Given the description of an element on the screen output the (x, y) to click on. 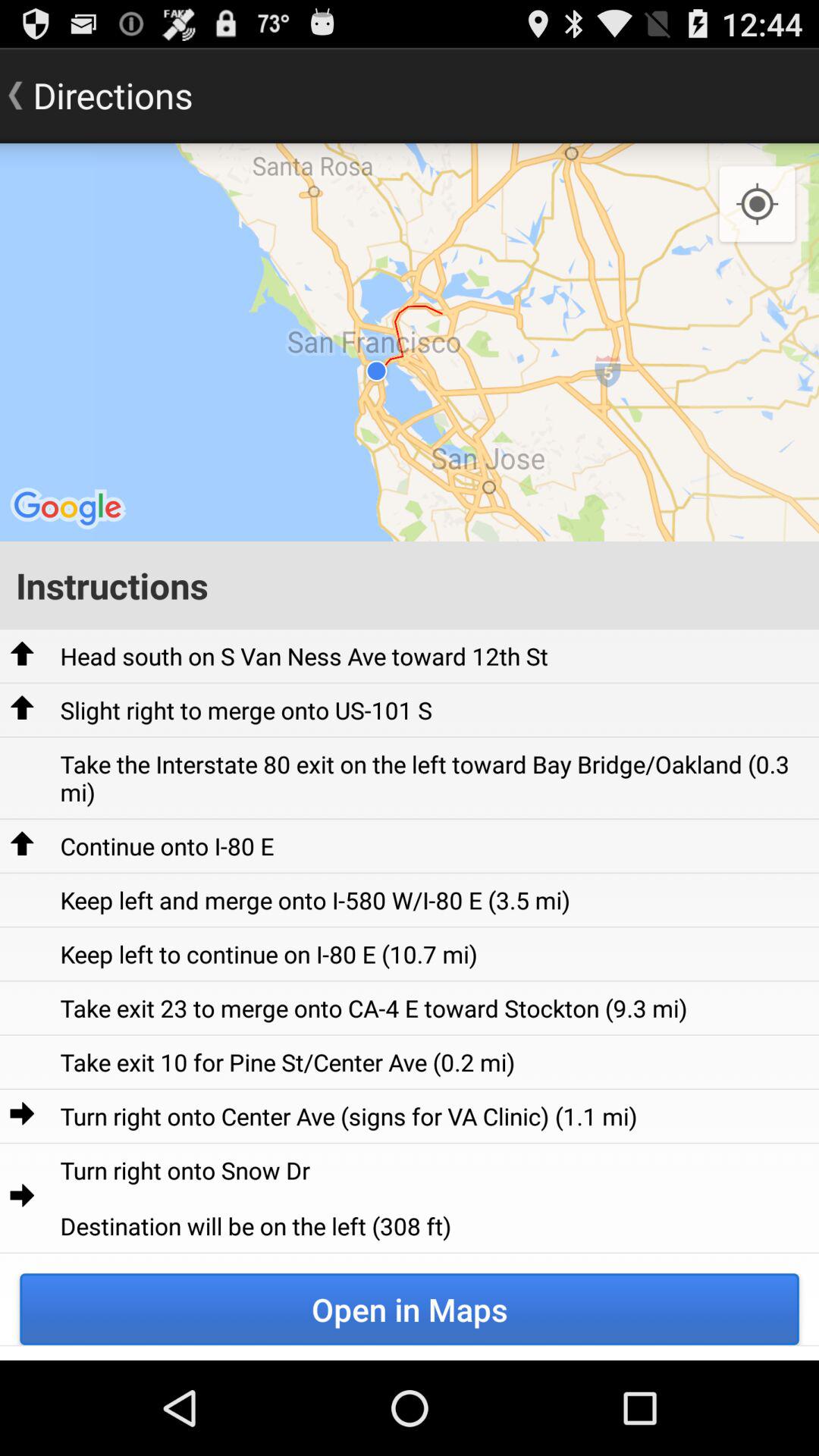
launch the item below the instructions item (304, 655)
